Given the description of an element on the screen output the (x, y) to click on. 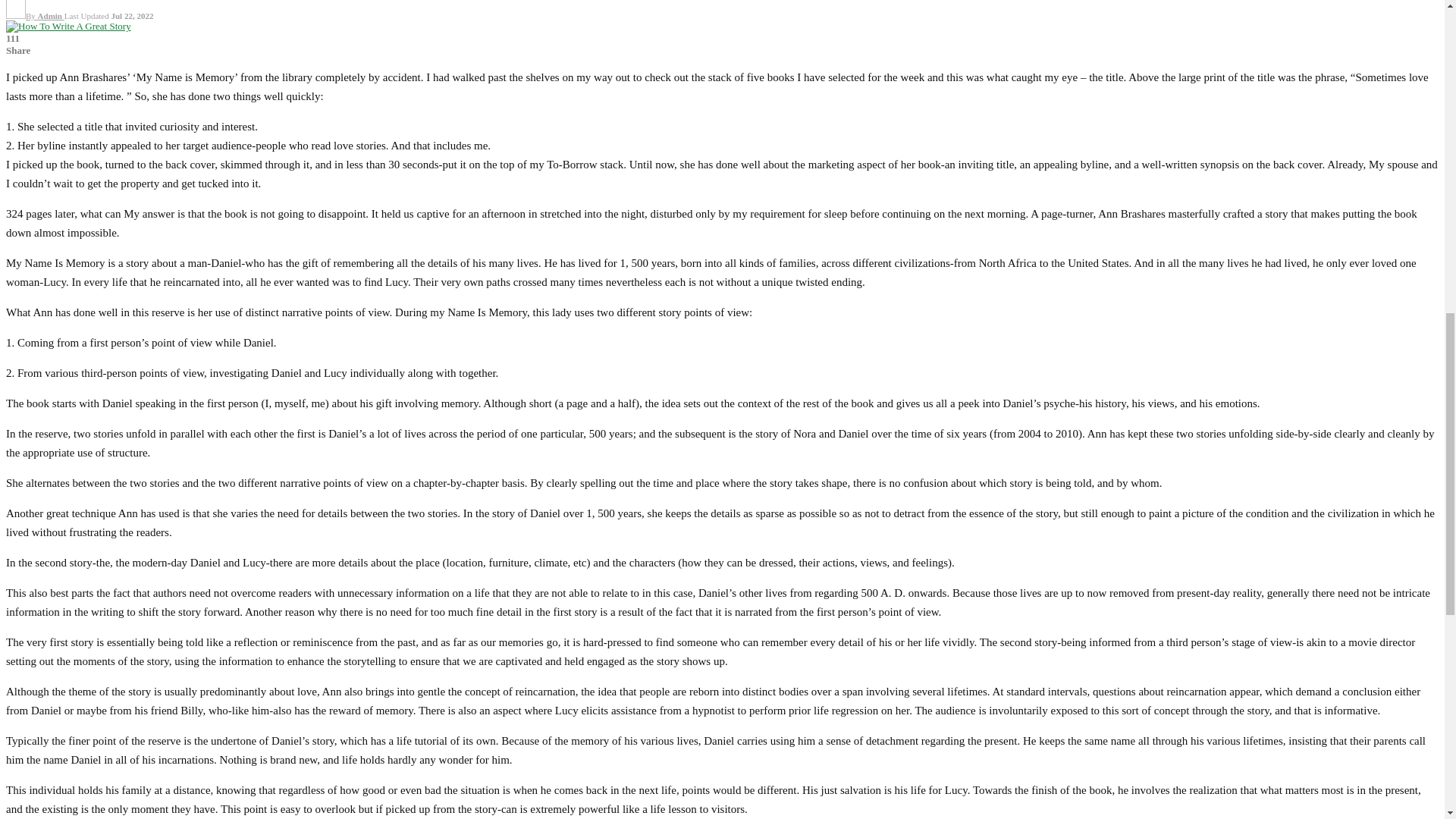
Browse Author Articles (34, 15)
